Given the description of an element on the screen output the (x, y) to click on. 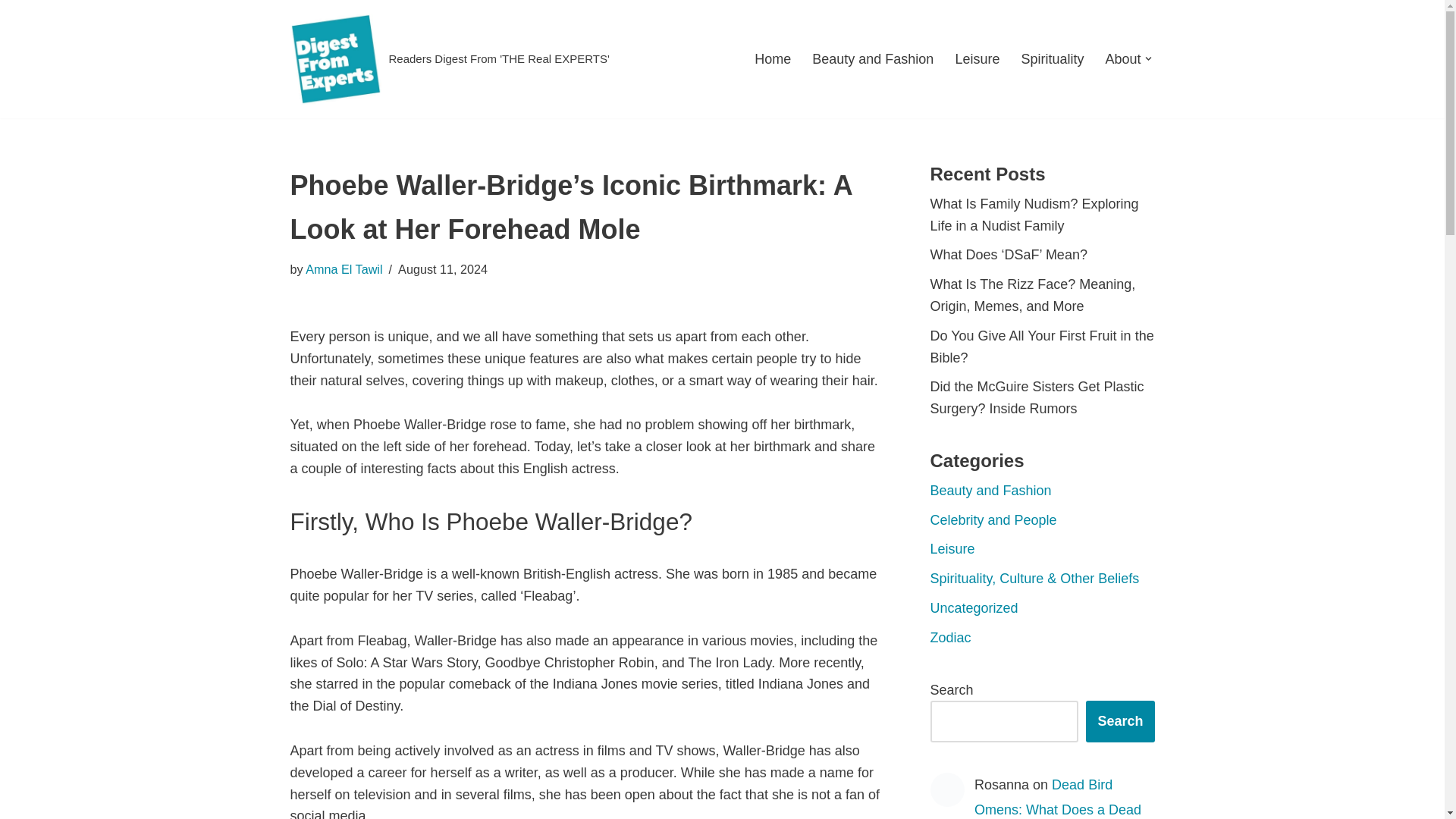
Beauty and Fashion (872, 58)
Leisure (952, 548)
Leisure (976, 58)
Do You Give All Your First Fruit in the Bible? (1041, 346)
What Is Family Nudism? Exploring Life in a Nudist Family (1034, 214)
What Is The Rizz Face? Meaning, Origin, Memes, and More (1032, 294)
Did the McGuire Sisters Get Plastic Surgery? Inside Rumors (1036, 397)
About (1122, 58)
Beauty and Fashion (990, 490)
Home (772, 58)
